Given the description of an element on the screen output the (x, y) to click on. 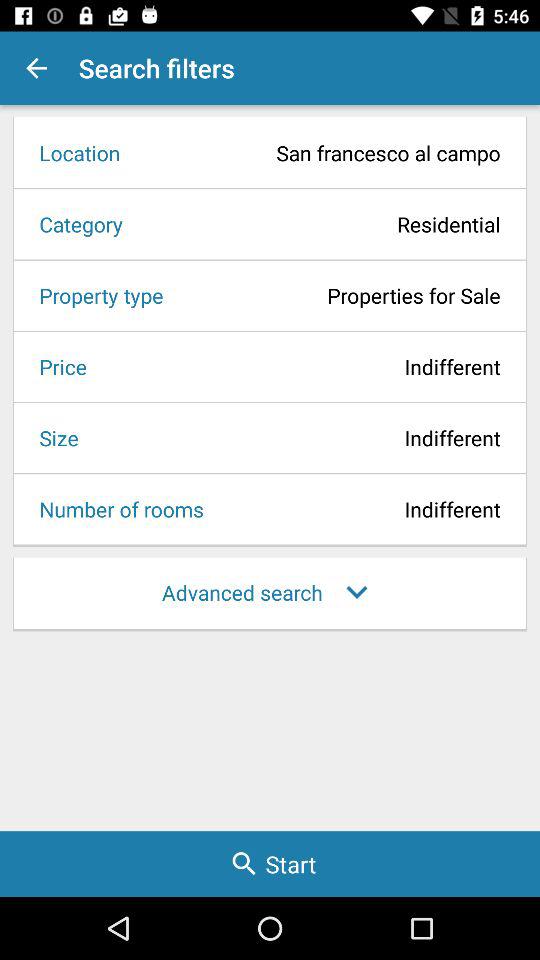
turn on the item above category icon (73, 152)
